Given the description of an element on the screen output the (x, y) to click on. 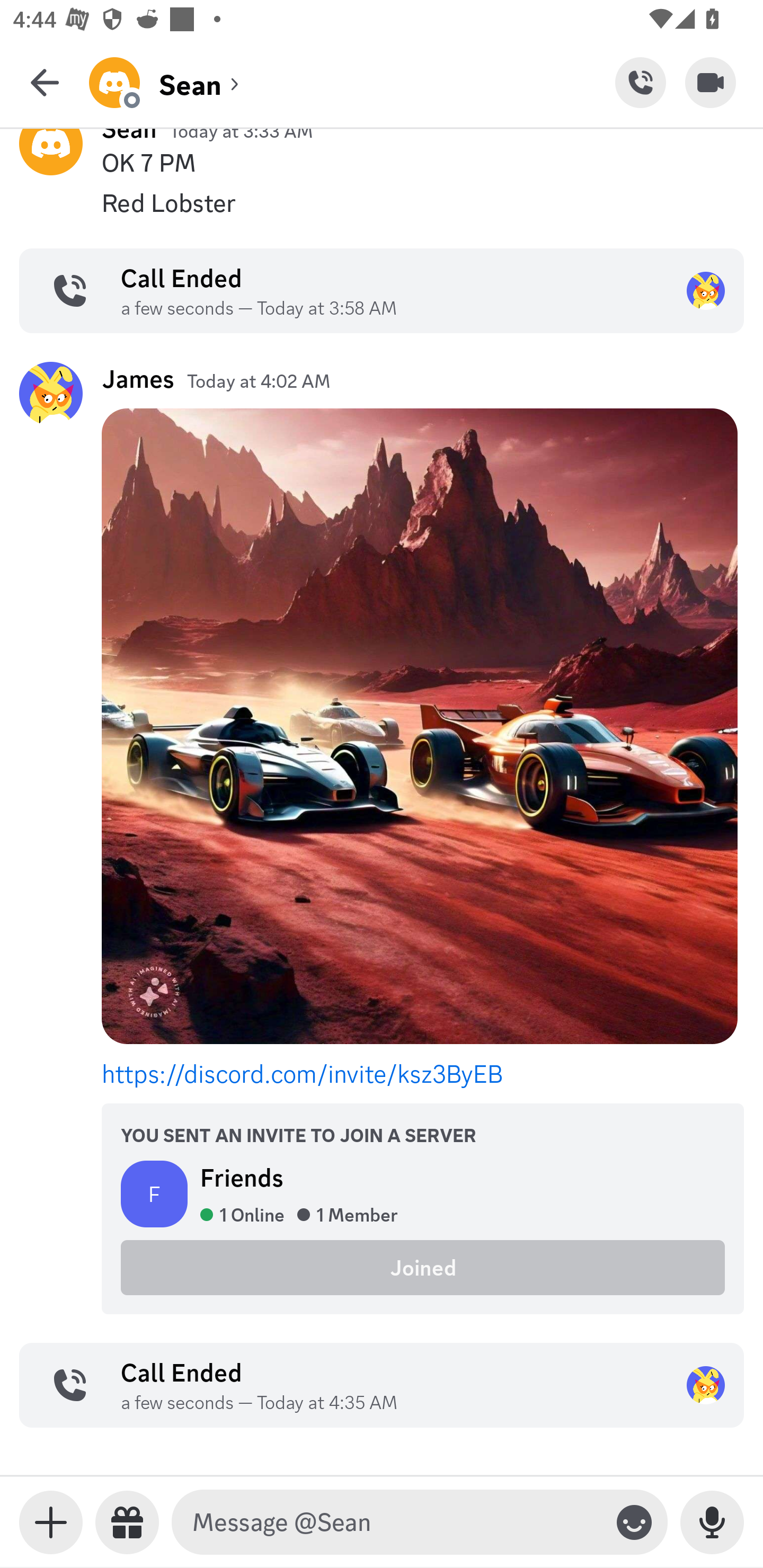
Sean (channel) Sean Sean (channel) (351, 82)
Back (44, 82)
Start Voice Call (640, 82)
Start Video Call (710, 82)
yuxiang.007, Red Lobster Red Lobster (381, 202)
Call Ended a few seconds — Today at 3:58 AM (381, 289)
James (137, 378)
Joined (422, 1267)
Call Ended a few seconds — Today at 4:35 AM (381, 1384)
Message @Sean Toggle emoji keyboard (419, 1522)
Toggle media keyboard (50, 1522)
Send a gift (126, 1522)
Record Voice Message (711, 1522)
Toggle emoji keyboard (634, 1522)
